Given the description of an element on the screen output the (x, y) to click on. 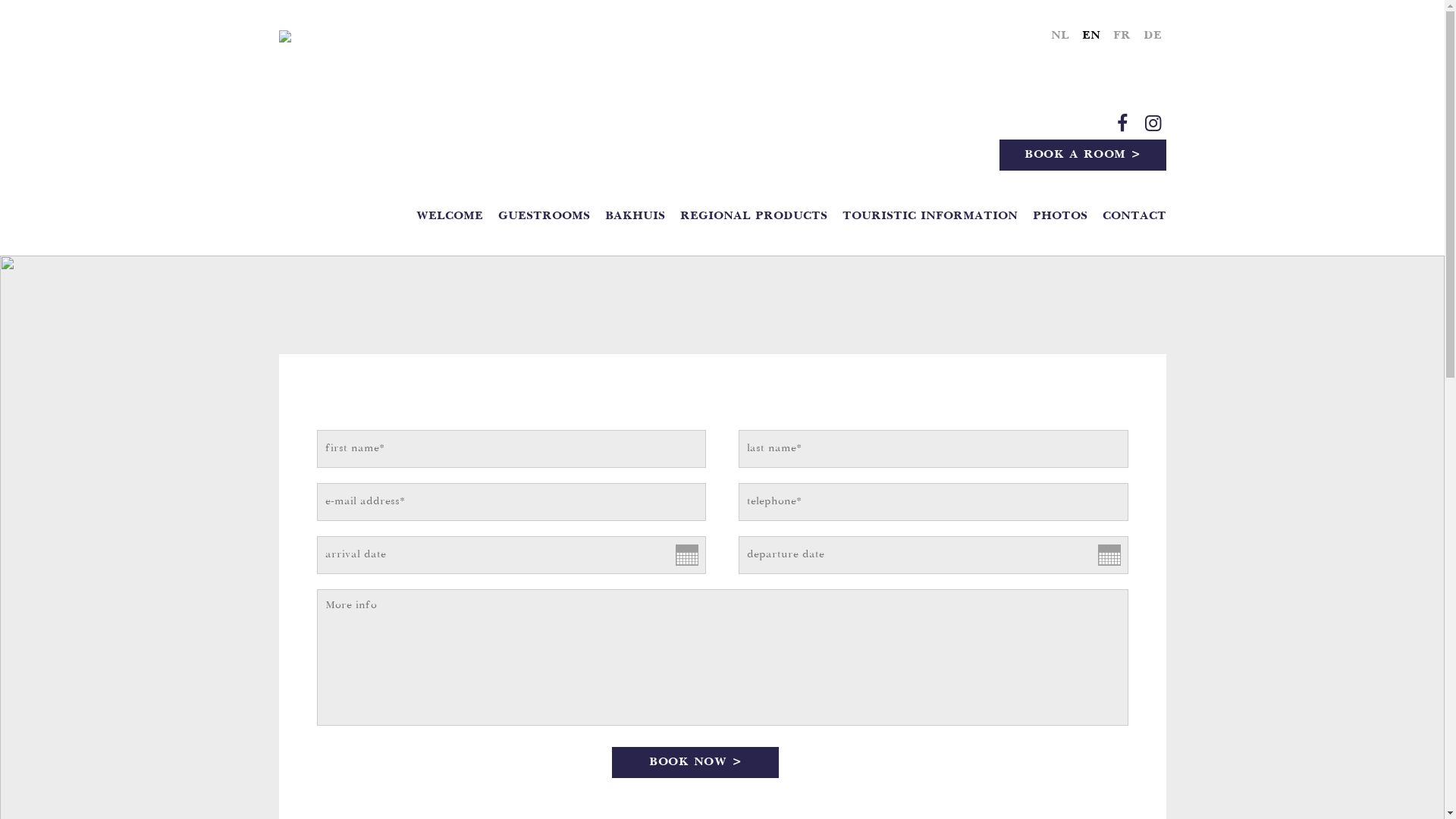
PHOTOS Element type: text (1059, 216)
BOOK A ROOM > Element type: text (1082, 154)
Genieten in het Waasland Element type: hover (385, 36)
FR Element type: text (1121, 36)
NL Element type: text (1060, 36)
DE Element type: text (1152, 36)
TOURISTIC INFORMATION Element type: text (928, 216)
Book now > Element type: text (694, 762)
GUESTROOMS Element type: text (543, 216)
REGIONAL PRODUCTS Element type: text (752, 216)
WELCOME Element type: text (448, 216)
EN Element type: text (1090, 36)
BAKHUIS Element type: text (635, 216)
CONTACT Element type: text (1134, 216)
